Given the description of an element on the screen output the (x, y) to click on. 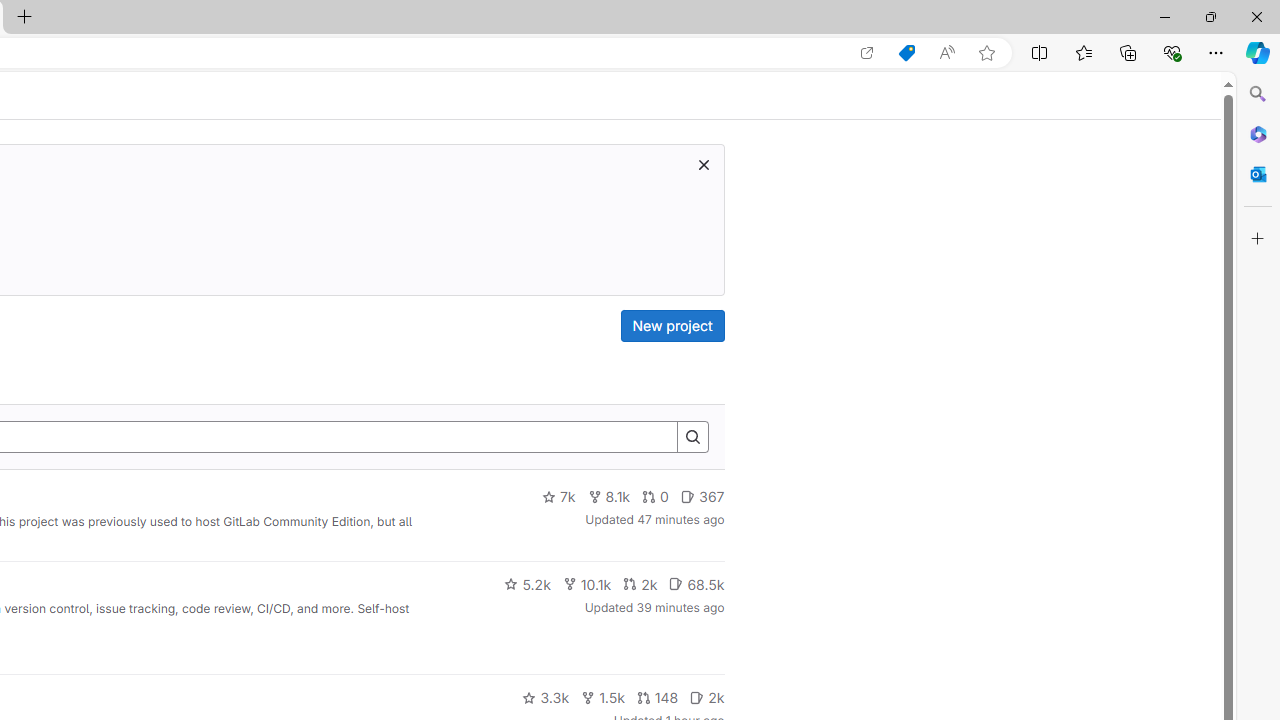
New project (671, 326)
Dismiss trial promotion (703, 164)
3.3k (545, 697)
Class: s16 gl-icon gl-button-icon  (703, 164)
Open in app (867, 53)
